Given the description of an element on the screen output the (x, y) to click on. 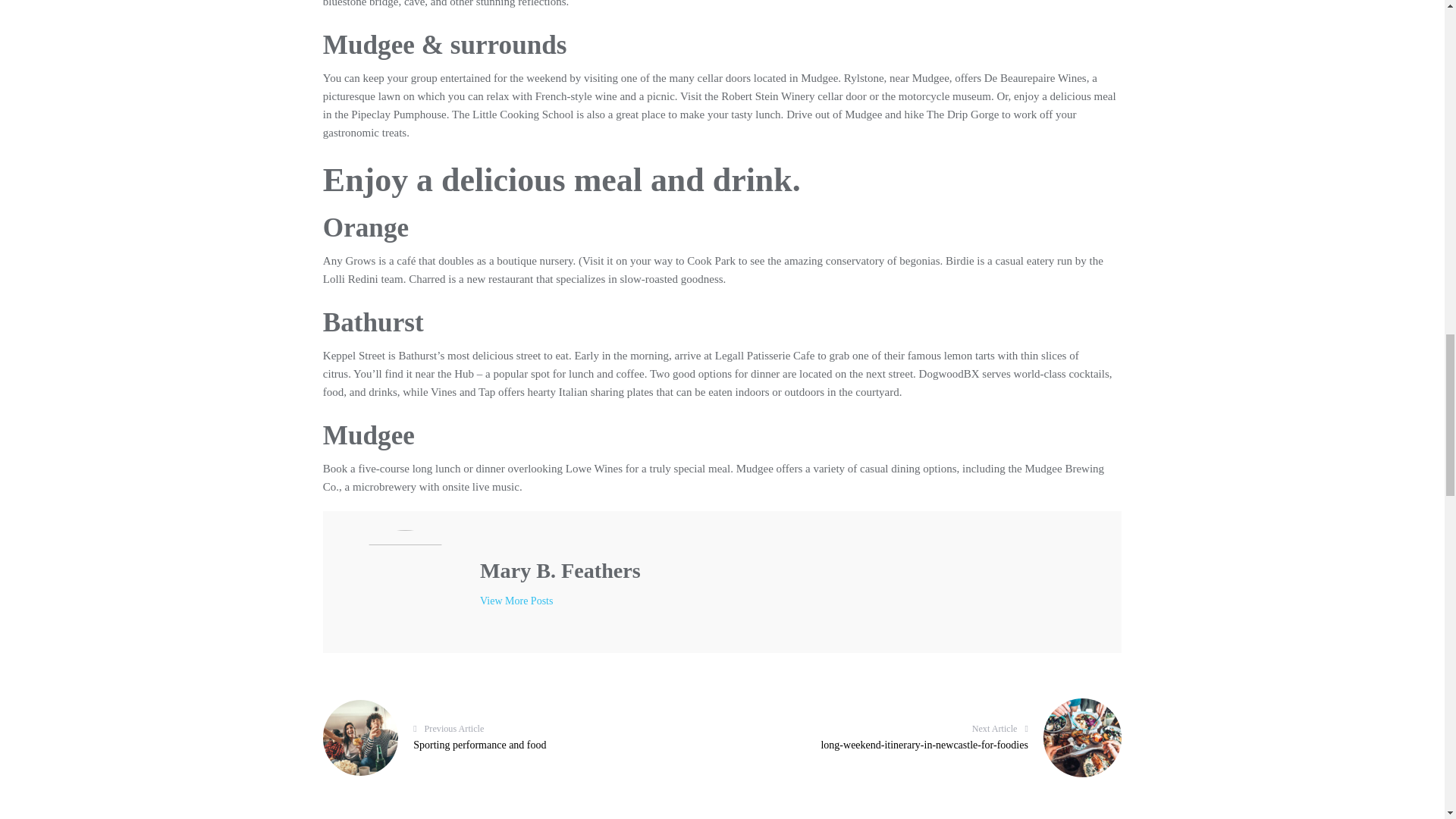
View More Posts (511, 737)
